Given the description of an element on the screen output the (x, y) to click on. 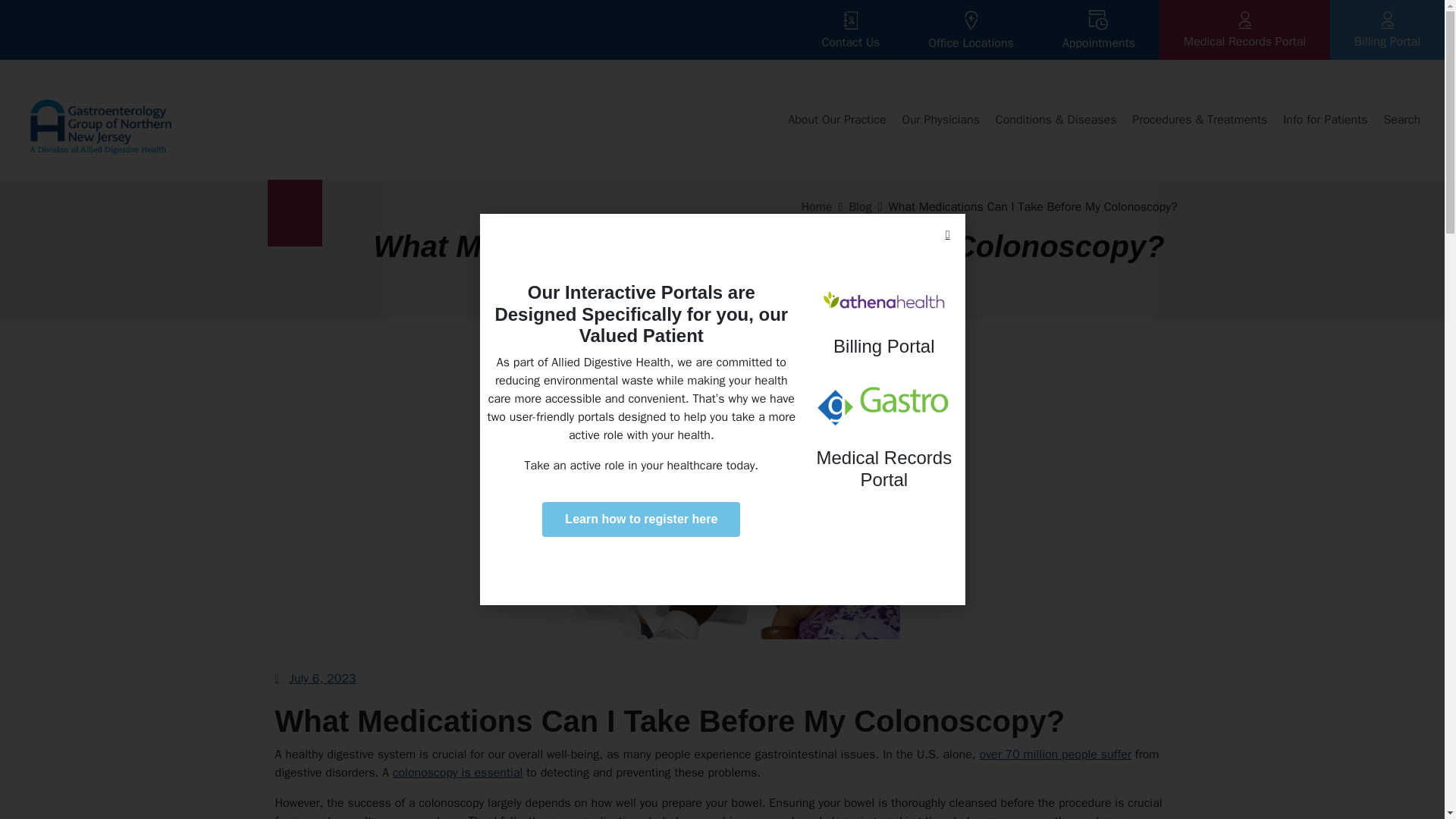
Search (1402, 119)
Medical Records Portal (1244, 29)
Contact Us (850, 30)
Blog (859, 206)
Office Locations (970, 29)
Appointments (1098, 29)
over 70 million people suffer (1054, 754)
July 6, 2023 (315, 678)
Our Physicians (940, 119)
About Our Practice (836, 119)
